Given the description of an element on the screen output the (x, y) to click on. 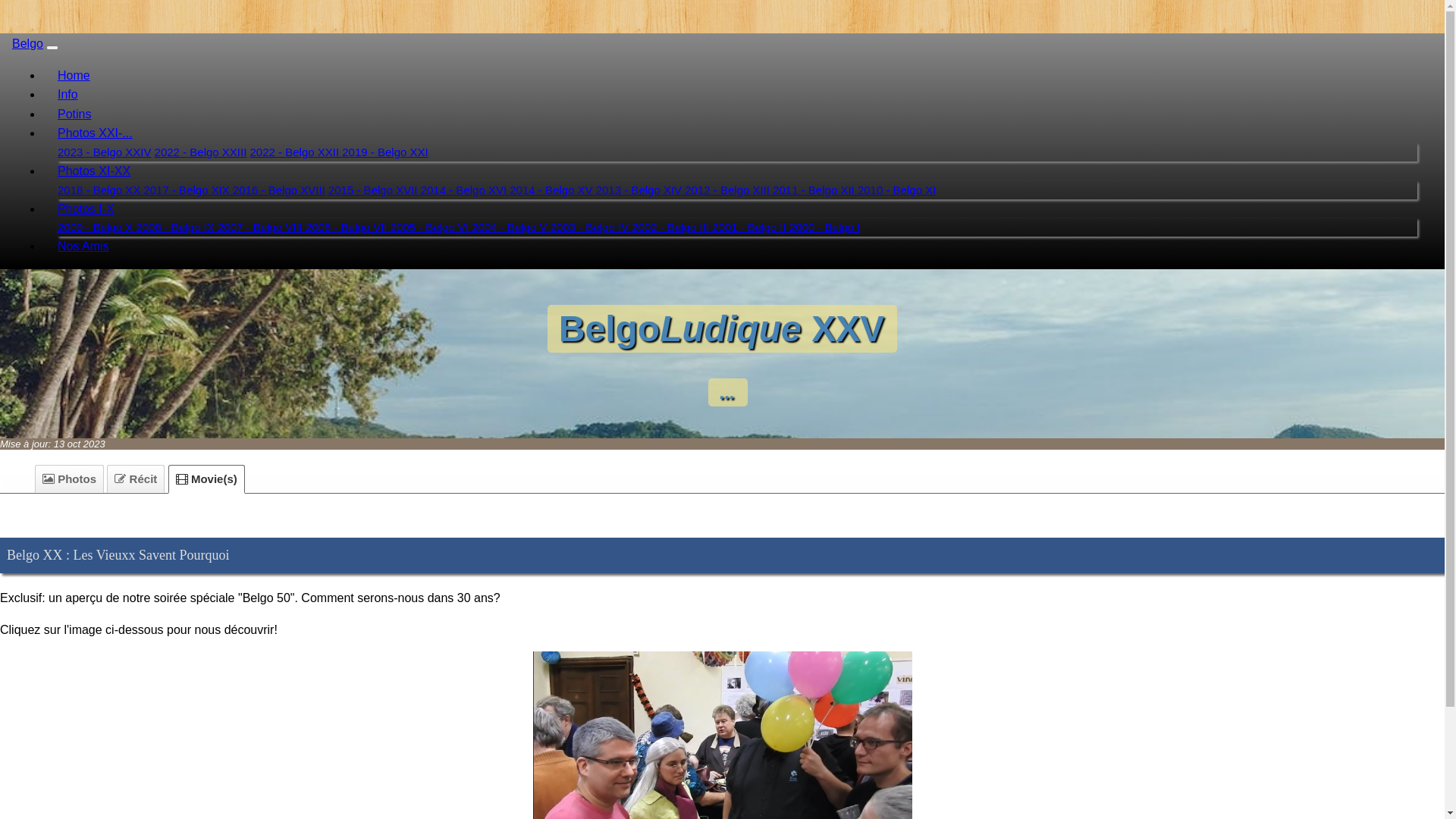
2006 - Belgo VII Element type: text (347, 226)
2014 - Belgo XVI Element type: text (465, 189)
2008 - Belgo IX Element type: text (176, 226)
Photos XI-XX Element type: text (93, 170)
Photos XXI-... Element type: text (94, 132)
2023 - Belgo XXIV Element type: text (103, 151)
2009 - Belgo X Element type: text (96, 226)
2022 - Belgo XXIII Element type: text (200, 151)
2007 - Belgo VIII Element type: text (261, 226)
2000 - Belgo I Element type: text (824, 226)
Potins Element type: text (74, 113)
2016 - Belgo XVIII Element type: text (278, 189)
2022 - Belgo XXII Element type: text (296, 151)
2014 - Belgo XV Element type: text (552, 189)
2015 - Belgo XVII Element type: text (374, 189)
2010 - Belgo XI Element type: text (896, 189)
Movie(s) Element type: text (206, 478)
2012 - Belgo XIII Element type: text (728, 189)
Nos Amis Element type: text (83, 245)
2011 - Belgo XII Element type: text (814, 189)
2017 - Belgo XIX Element type: text (187, 189)
Photos I-X Element type: text (85, 208)
2019 - Belgo XXI Element type: text (384, 151)
2004 - Belgo V Element type: text (510, 226)
Photos Element type: text (69, 478)
2002 - Belgo III Element type: text (671, 226)
2013 - Belgo XIV Element type: text (640, 189)
2018 - Belgo XX Element type: text (100, 189)
2001 - Belgo II Element type: text (750, 226)
Belgo Element type: text (27, 43)
Info Element type: text (67, 93)
Home Element type: text (73, 75)
2005 - Belgo VI Element type: text (431, 226)
2003 - Belgo IV Element type: text (591, 226)
